Given the description of an element on the screen output the (x, y) to click on. 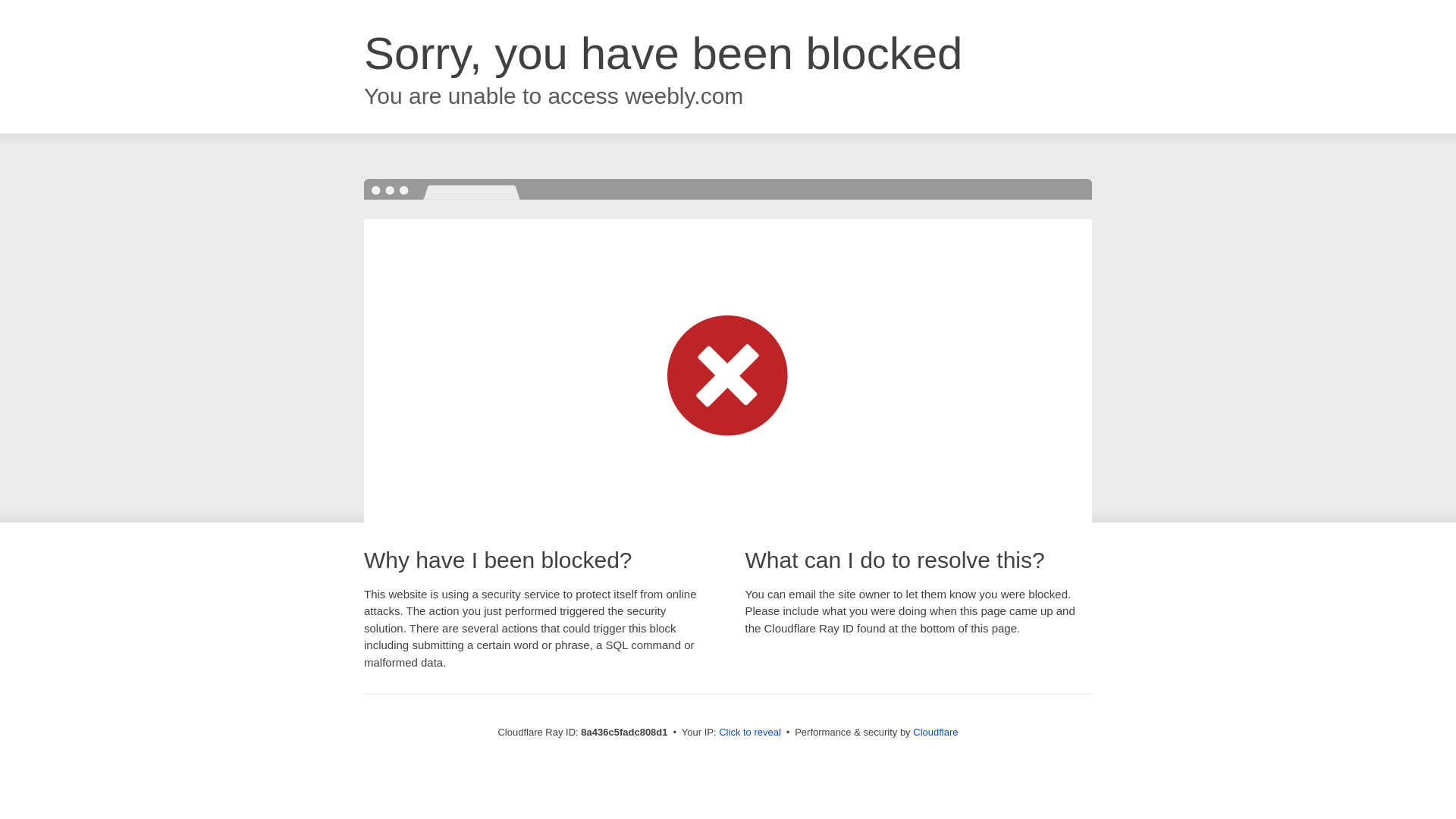
Click to reveal (749, 732)
Cloudflare (935, 731)
